Given the description of an element on the screen output the (x, y) to click on. 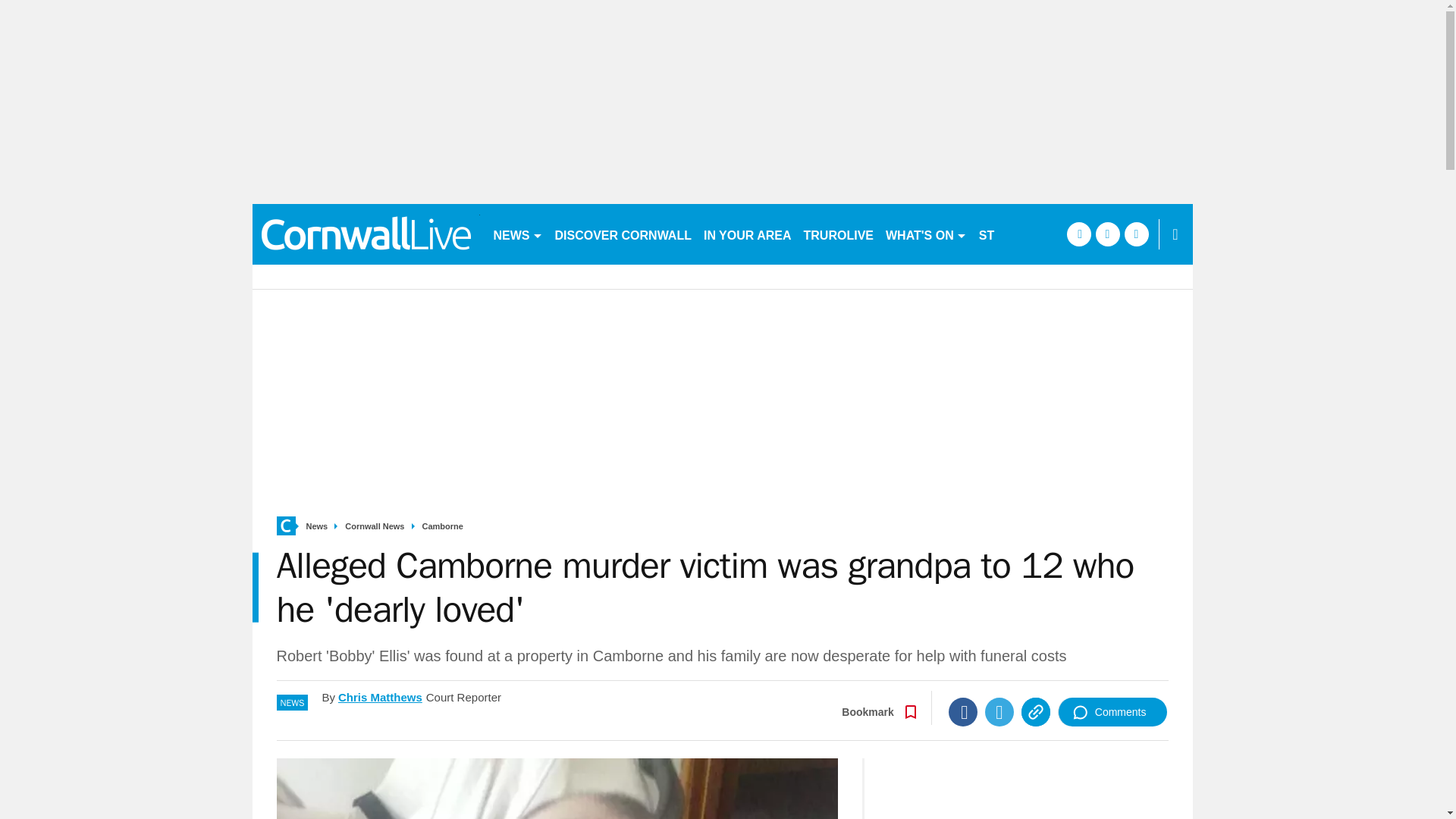
Twitter (999, 711)
Comments (1112, 711)
WHAT'S ON (925, 233)
DISCOVER CORNWALL (622, 233)
instagram (1136, 233)
facebook (1077, 233)
twitter (1106, 233)
TRUROLIVE (838, 233)
Facebook (962, 711)
NEWS (517, 233)
